Given the description of an element on the screen output the (x, y) to click on. 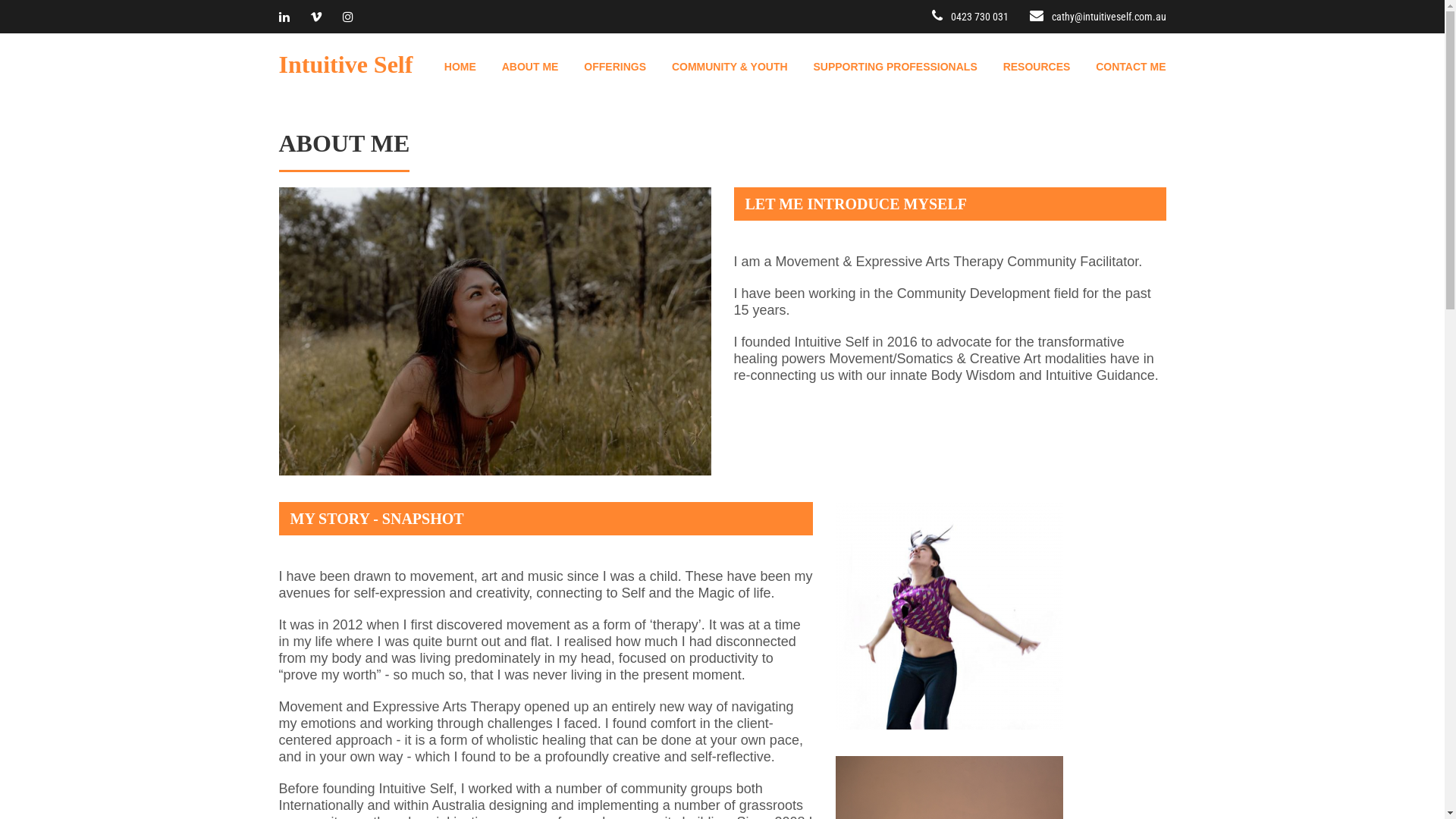
vimeo Element type: hover (316, 16)
RESOURCES Element type: text (1025, 66)
COMMUNITY & YOUTH Element type: text (718, 66)
Cathy Wild and Free Element type: hover (495, 331)
cathy@intuitiveself.com.au Element type: text (1108, 16)
CONTACT ME Element type: text (1119, 66)
SUPPORTING PROFESSIONALS Element type: text (883, 66)
ABOUT ME Element type: text (518, 66)
instagram Element type: hover (347, 16)
Intuitive Self Element type: text (346, 62)
linkedin Element type: hover (284, 16)
OFFERINGS Element type: text (603, 66)
HOME Element type: text (448, 66)
